Given the description of an element on the screen output the (x, y) to click on. 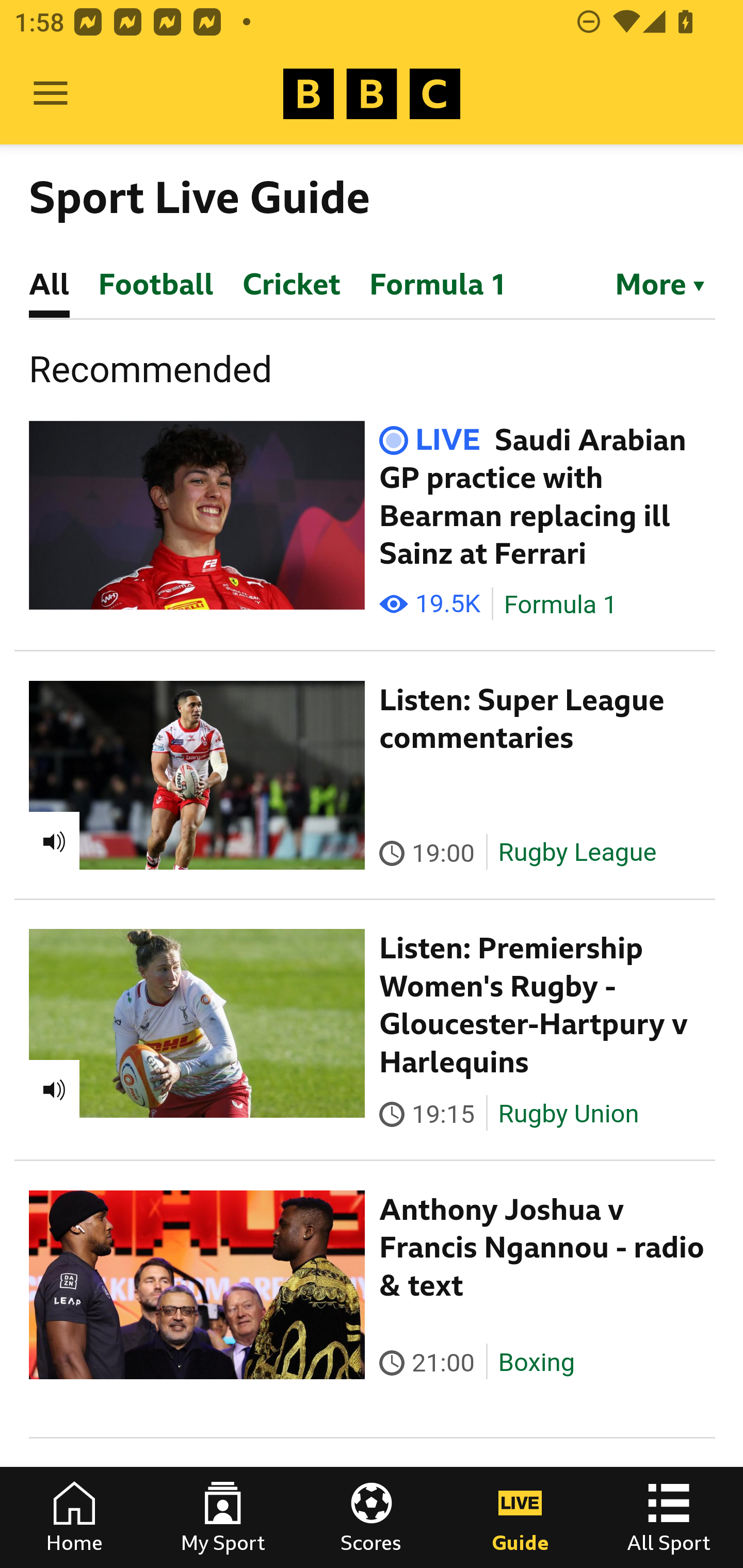
Open Menu (50, 93)
Formula 1 (560, 604)
Listen: Super League commentaries (522, 718)
Rugby League (576, 852)
Rugby Union (568, 1113)
Anthony Joshua v Francis Ngannou - radio & text (541, 1247)
Boxing (535, 1361)
Home (74, 1517)
My Sport (222, 1517)
Scores (371, 1517)
All Sport (668, 1517)
